Given the description of an element on the screen output the (x, y) to click on. 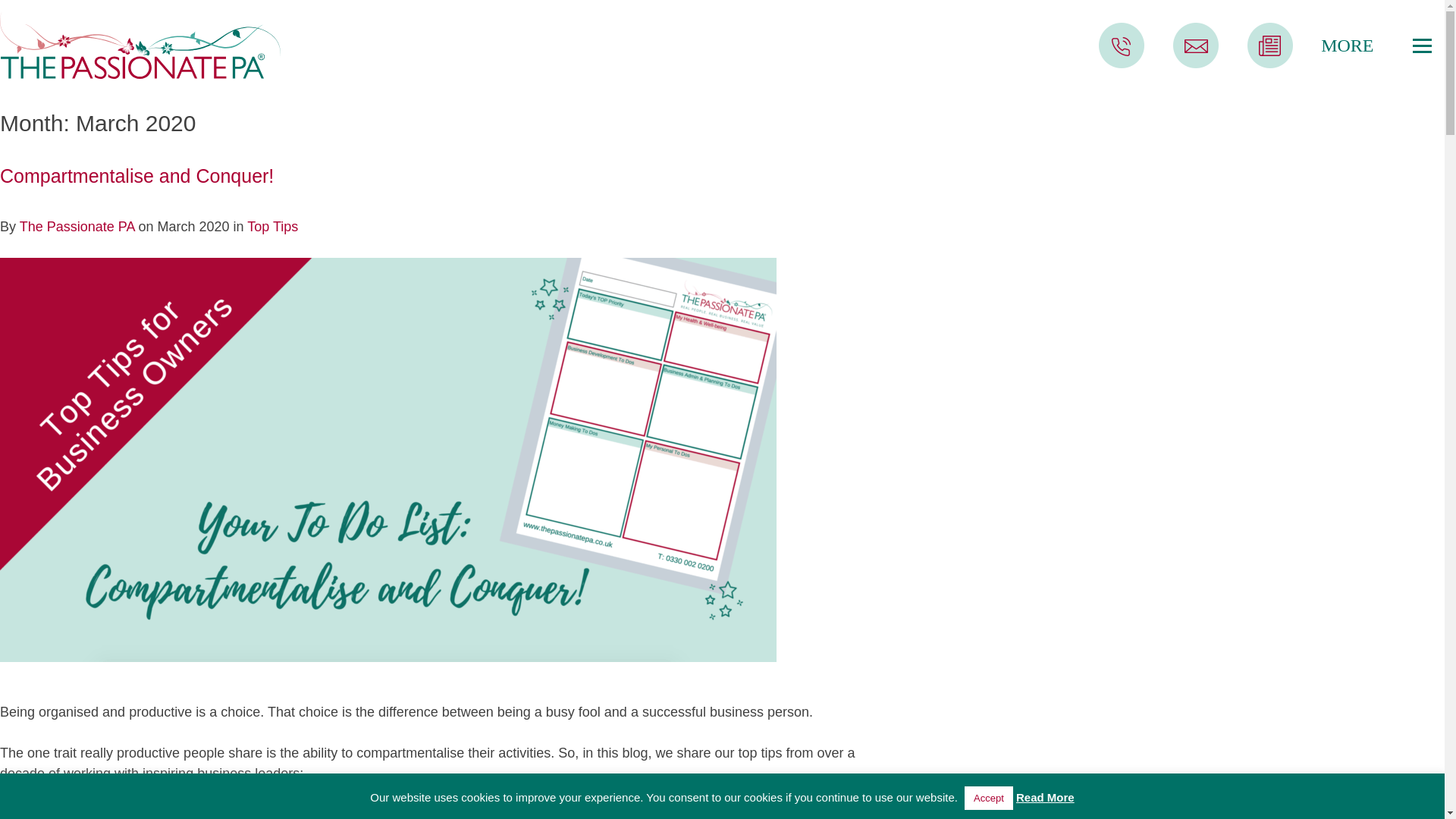
The Passionate PA (77, 226)
Posts by The Passionate PA (77, 226)
Call Us (1109, 63)
Compartmentalise and Conquer! (136, 175)
Top Tips (272, 226)
Email Us (1183, 63)
